Given the description of an element on the screen output the (x, y) to click on. 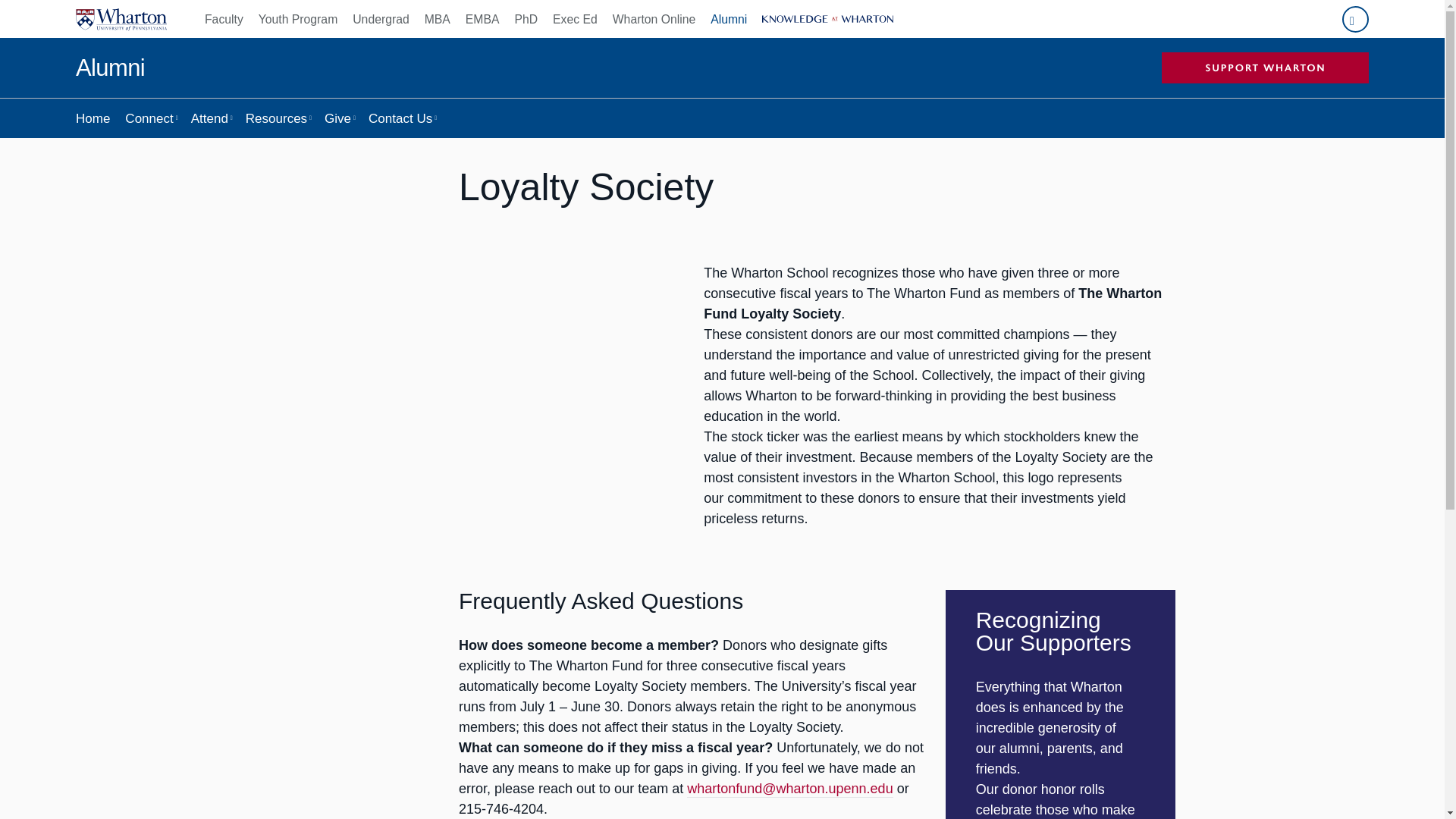
Alumni (109, 67)
EMBA (482, 18)
Faculty (227, 18)
Alumni (728, 18)
Connect (150, 117)
PhD (525, 18)
Youth Program (297, 18)
Undergrad (380, 18)
Exec Ed (574, 18)
Search Wharton (1355, 18)
Wharton Home (121, 18)
Attend (210, 117)
Wharton Online (654, 18)
Home (92, 117)
MBA (437, 18)
